Given the description of an element on the screen output the (x, y) to click on. 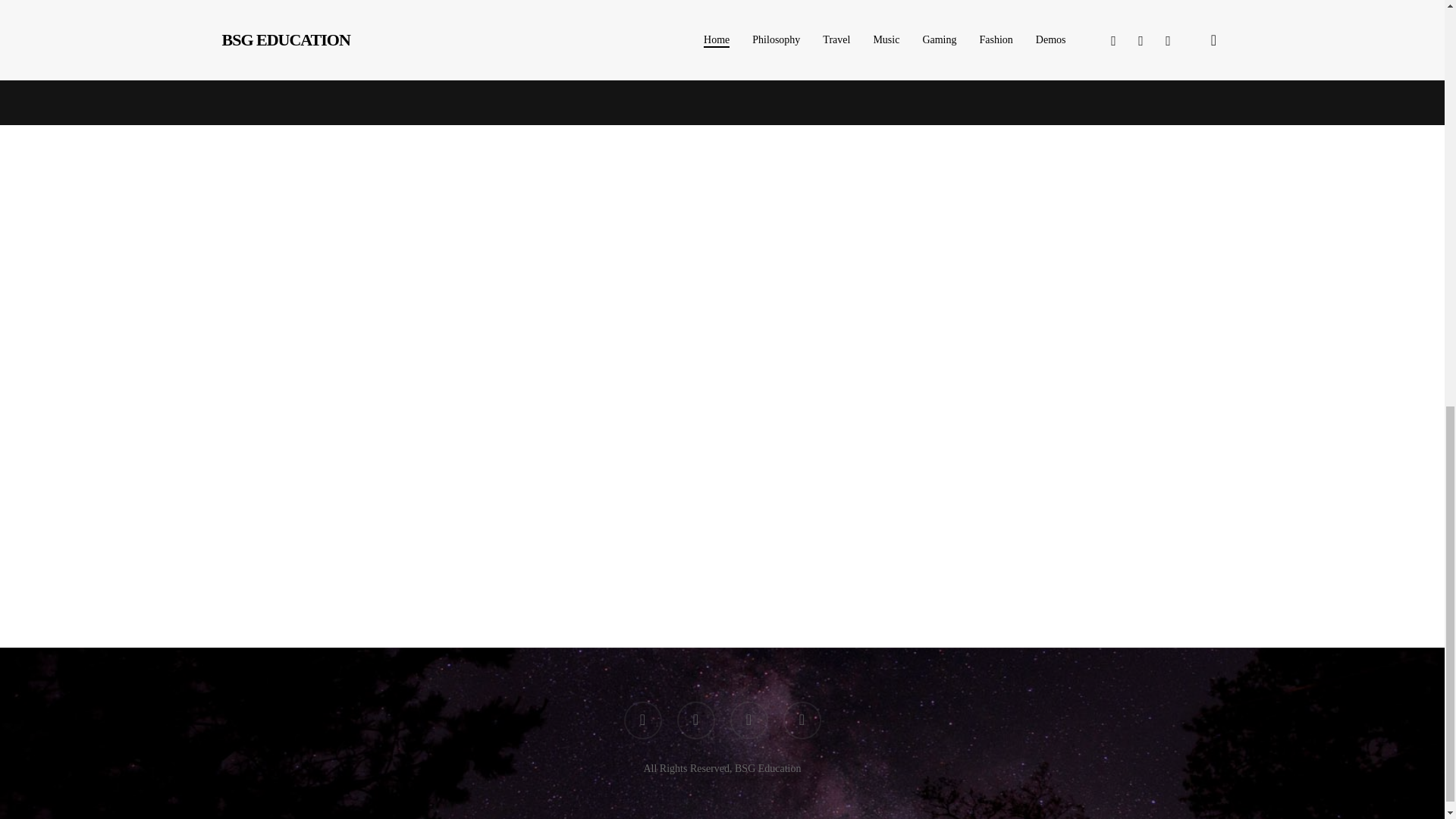
twitter (642, 720)
google-plus (748, 720)
facebook (695, 720)
yelp (802, 720)
